Given the description of an element on the screen output the (x, y) to click on. 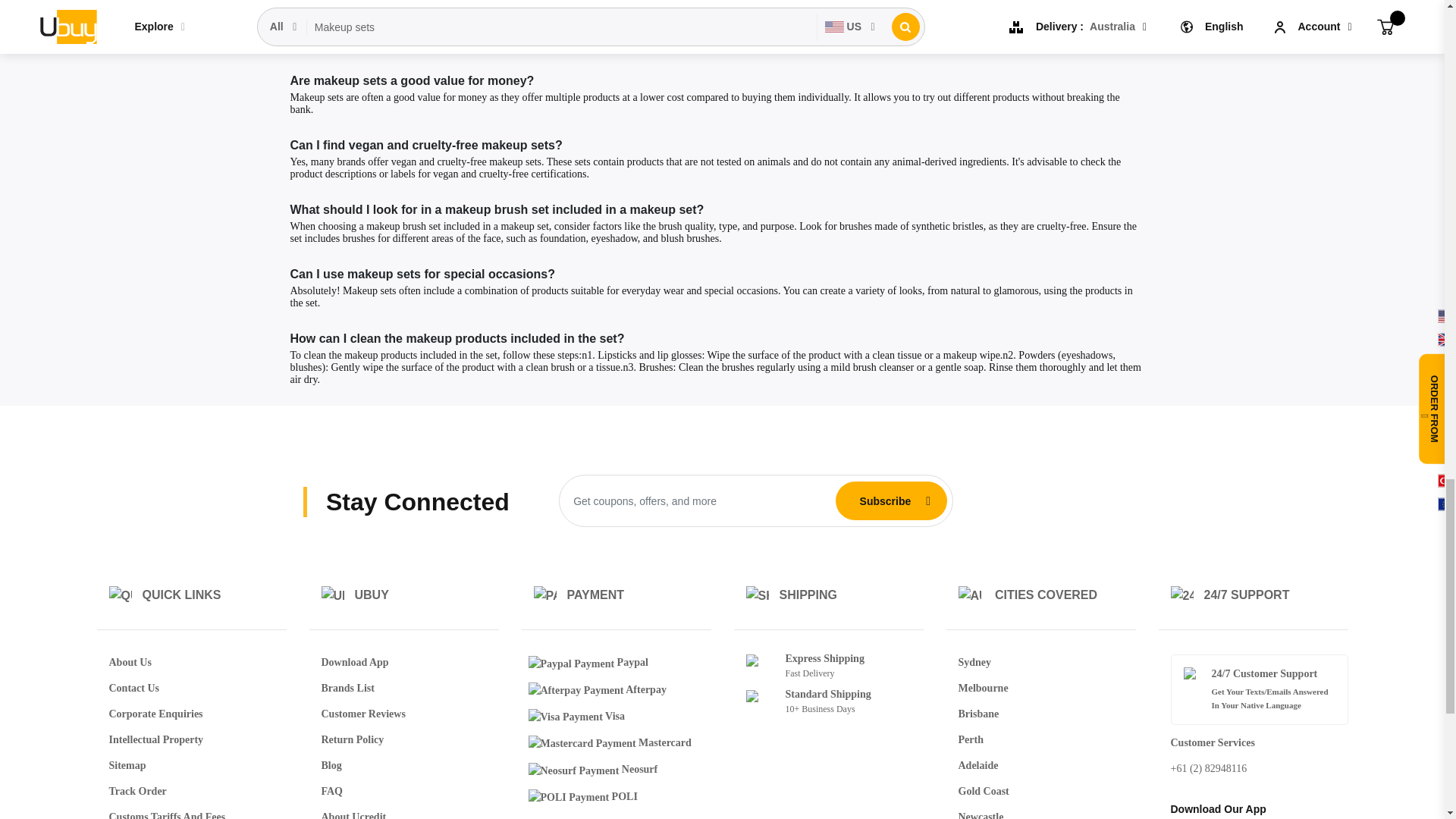
Subscribe (885, 500)
